Given the description of an element on the screen output the (x, y) to click on. 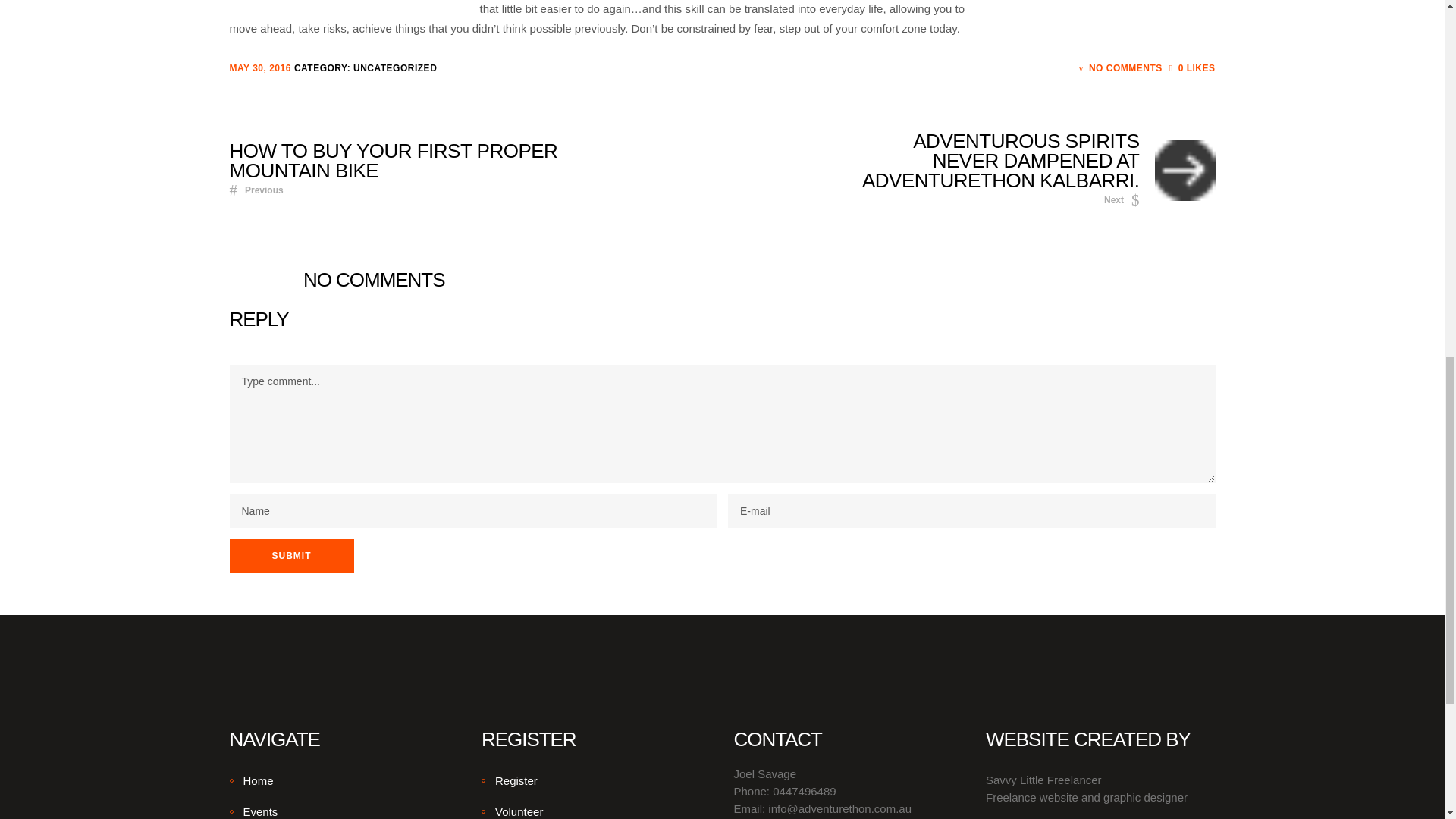
Like this (1192, 68)
Submit (290, 555)
